Given the description of an element on the screen output the (x, y) to click on. 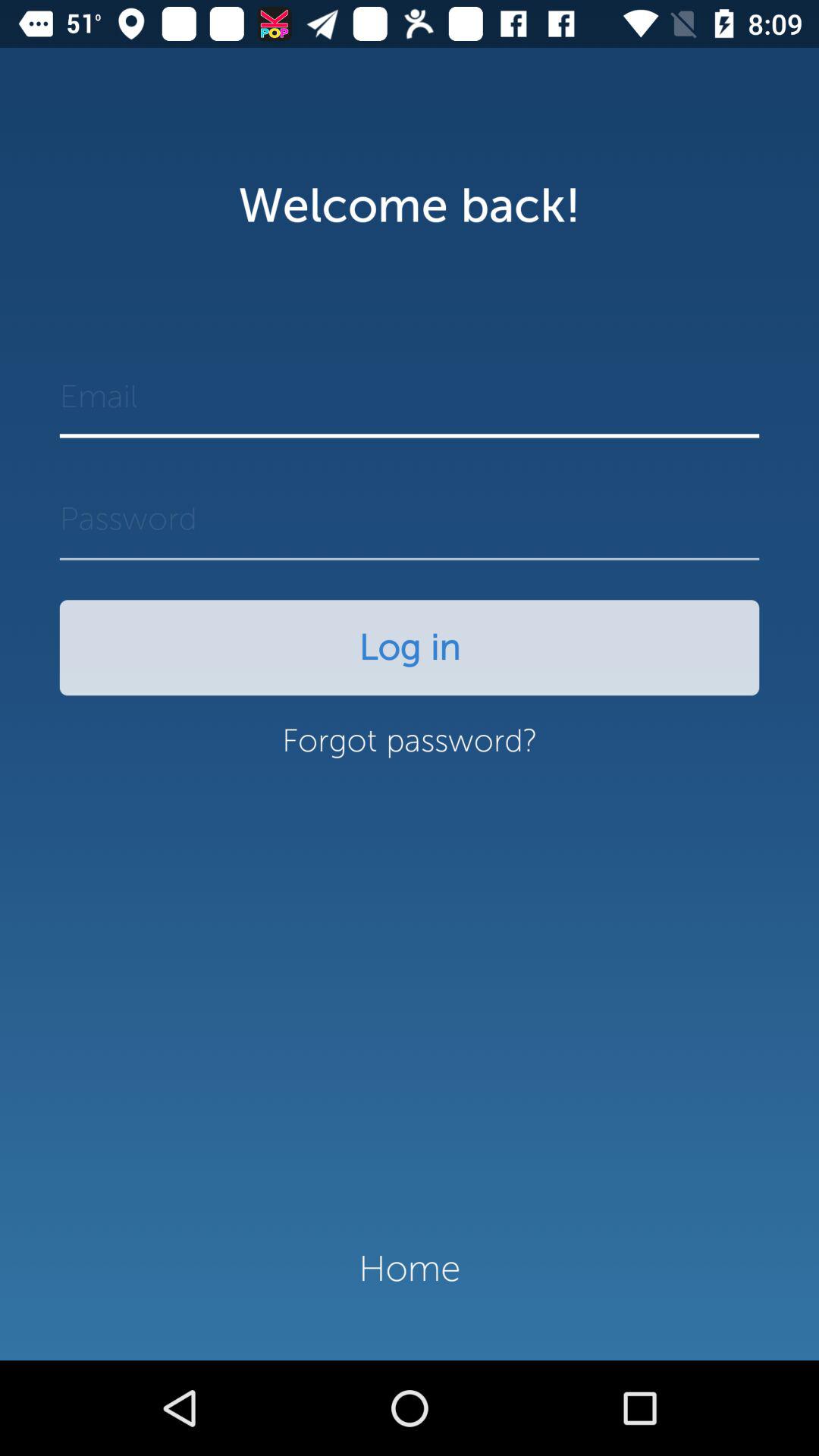
scroll until log in item (409, 647)
